Given the description of an element on the screen output the (x, y) to click on. 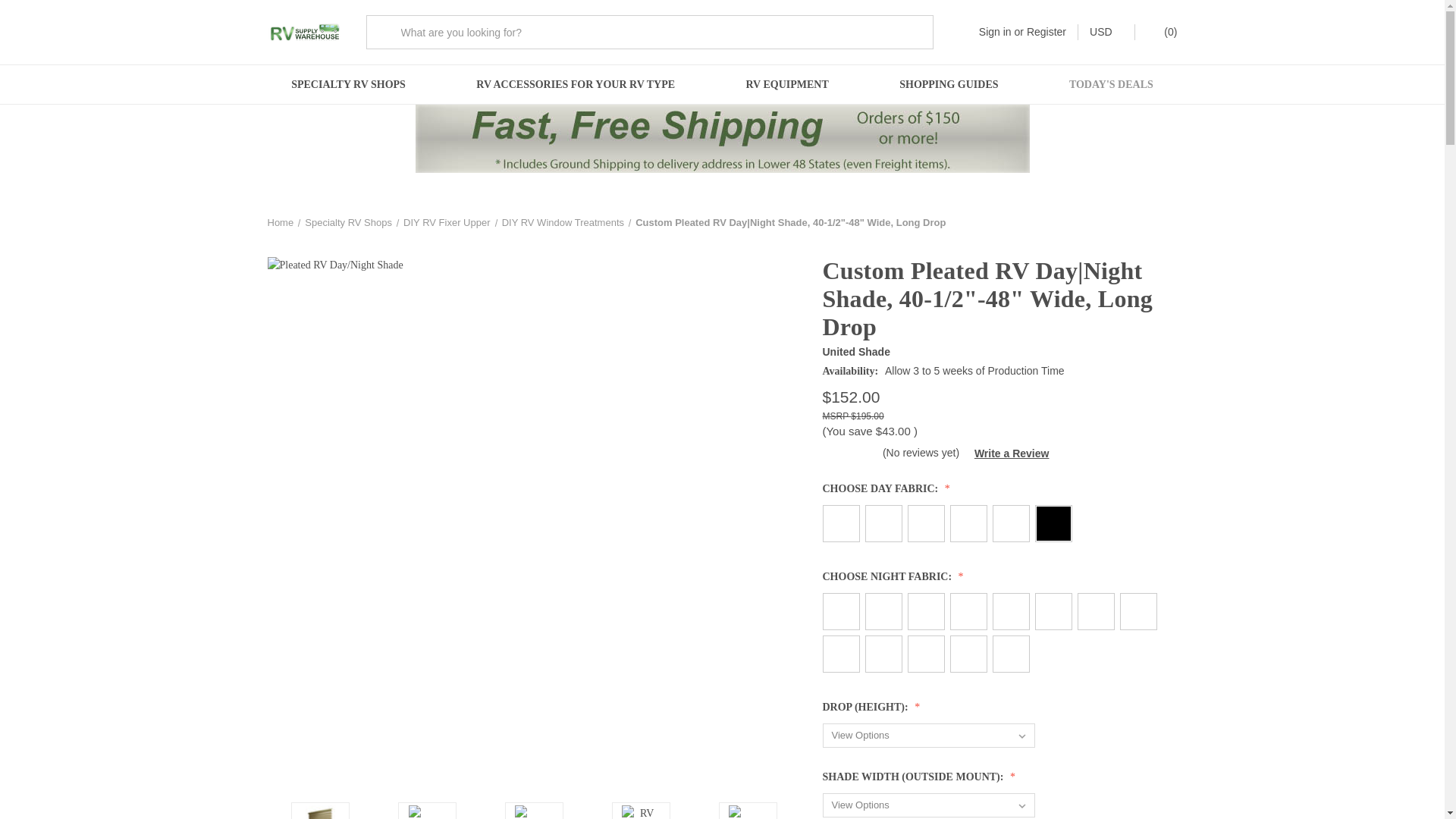
Deco Silver (840, 523)
USD (1106, 32)
Deco White (967, 523)
Deco Opal (882, 523)
Stitchbond Papyrus (882, 611)
RV Supply Warehouse (304, 32)
Stitchbond Cotton (925, 611)
freeshipping-banner2.jpg (721, 138)
Stitchbond Snow (967, 611)
